Given the description of an element on the screen output the (x, y) to click on. 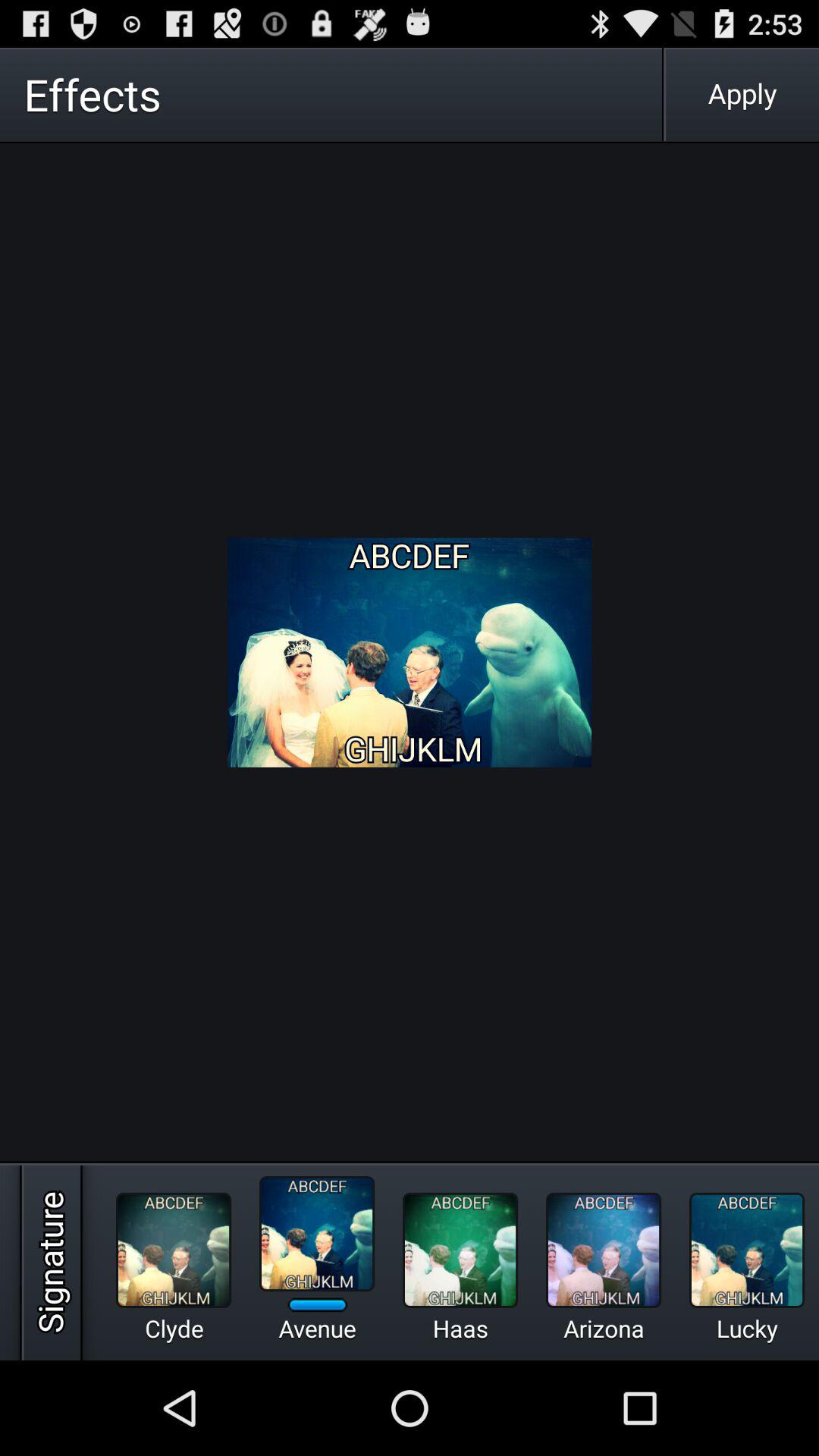
jump until apply item (742, 93)
